Given the description of an element on the screen output the (x, y) to click on. 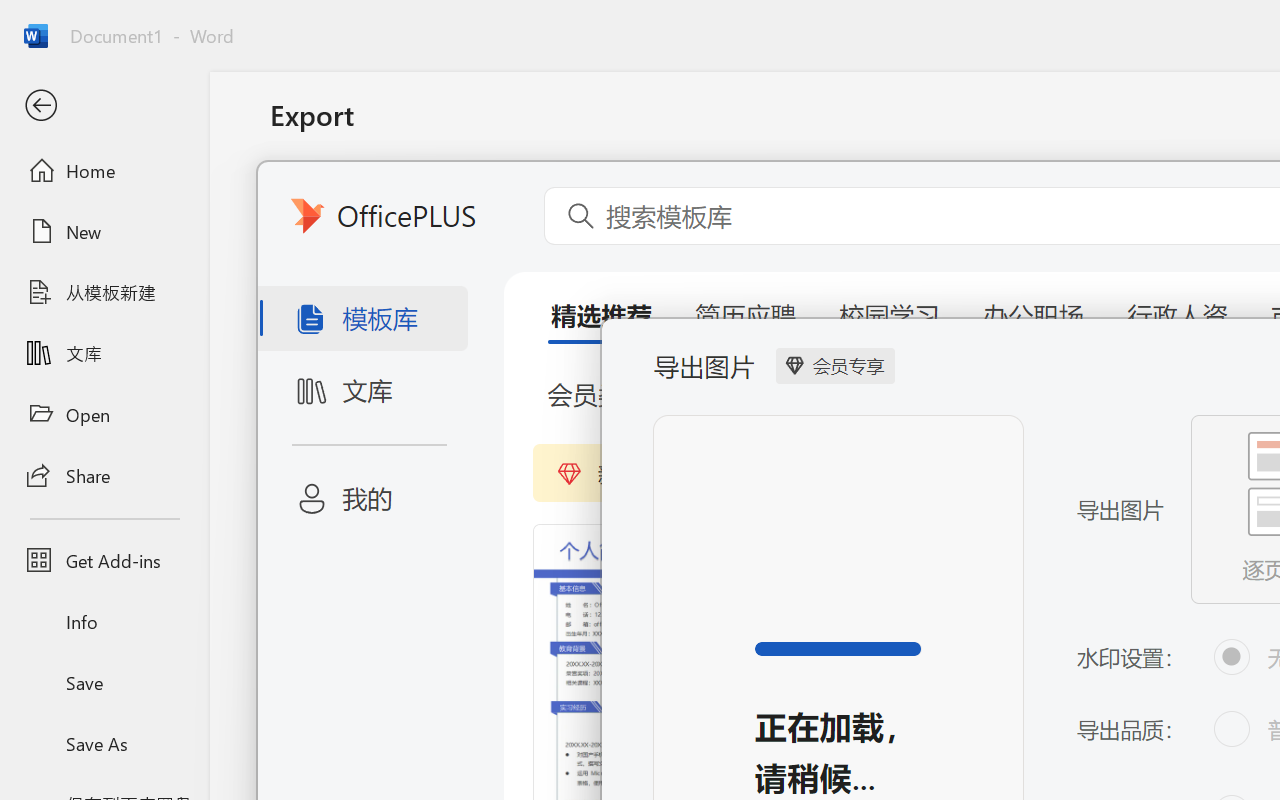
Sign in - Google Accounts (1055, 22)
Create your Google Account (784, 22)
Our approach (506, 132)
Researcher Engagement (1038, 132)
Google News (104, 22)
Transparency Center (167, 132)
Our policies (619, 132)
Sign In - USA TODAY (240, 22)
New Tab (376, 22)
